Given the description of an element on the screen output the (x, y) to click on. 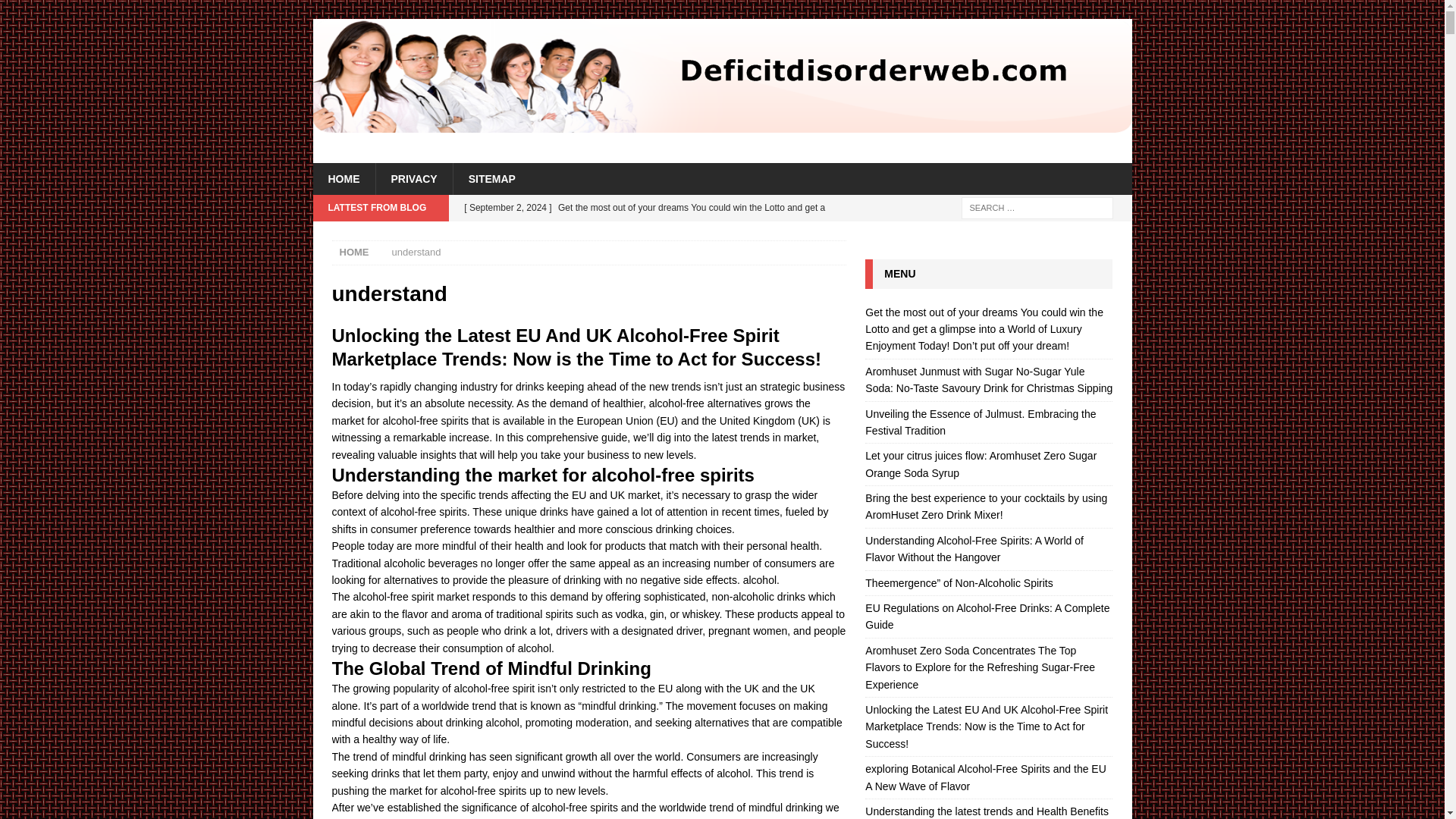
SITEMAP (491, 178)
Deficit disorder web (722, 123)
HOME (354, 251)
HOME (343, 178)
Search (56, 11)
PRIVACY (412, 178)
